Given the description of an element on the screen output the (x, y) to click on. 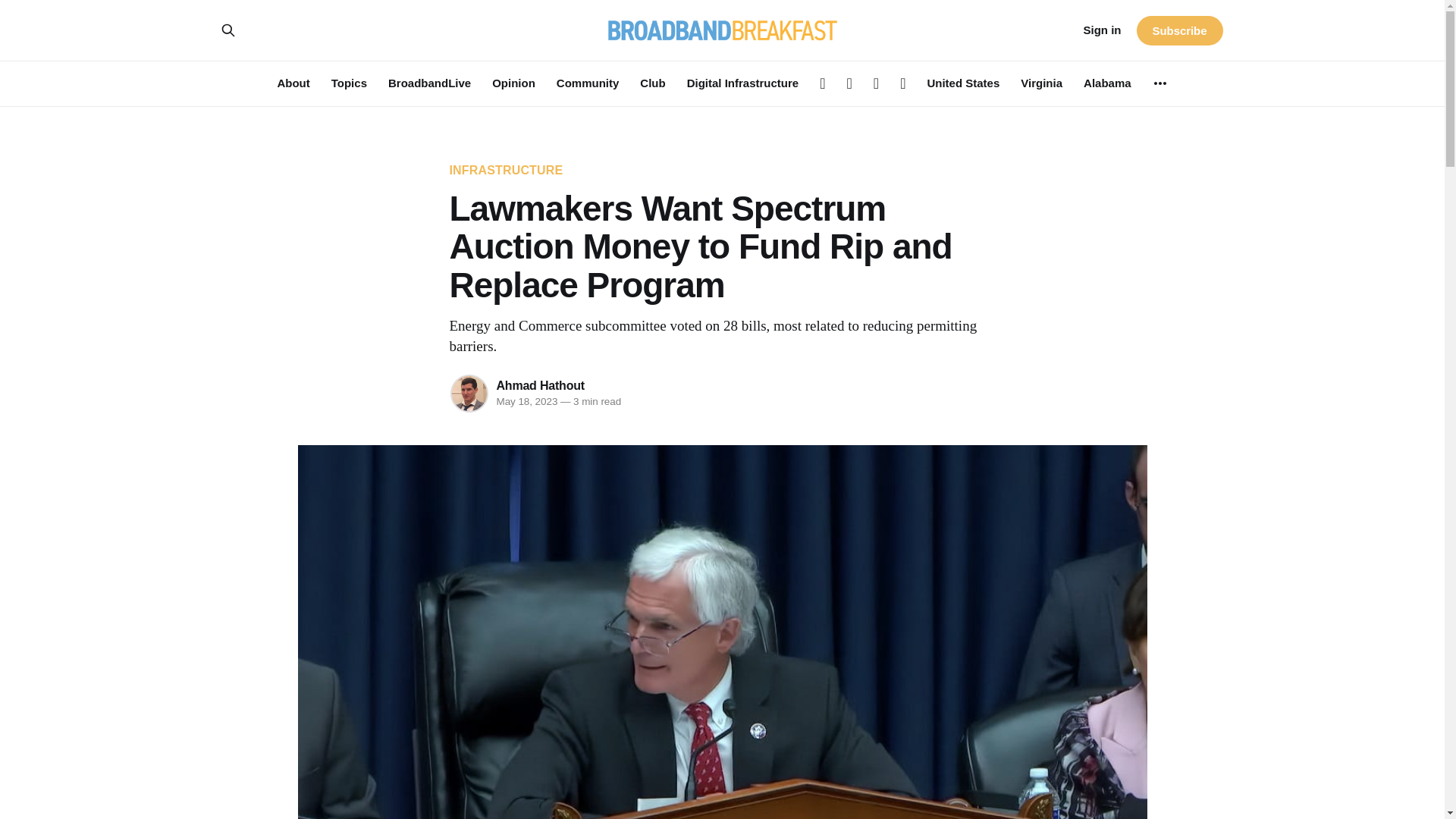
Topics (348, 82)
BroadbandLive (429, 82)
Alabama (1107, 82)
Community (588, 82)
Opinion (513, 82)
United States (962, 82)
Virginia (1041, 82)
Digital Infrastructure (743, 82)
About (292, 82)
Club (652, 82)
